Given the description of an element on the screen output the (x, y) to click on. 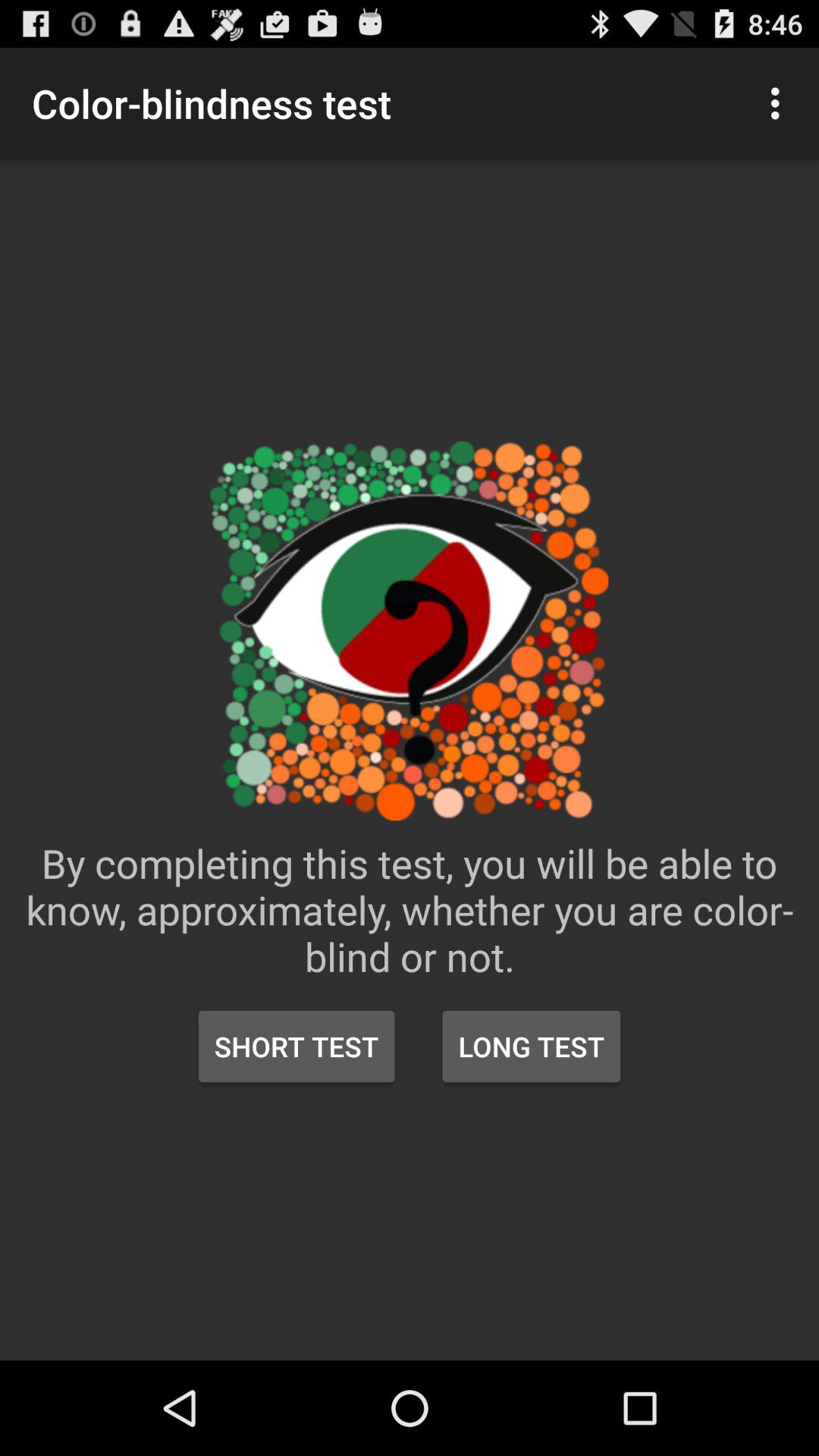
click icon at the top right corner (779, 103)
